Given the description of an element on the screen output the (x, y) to click on. 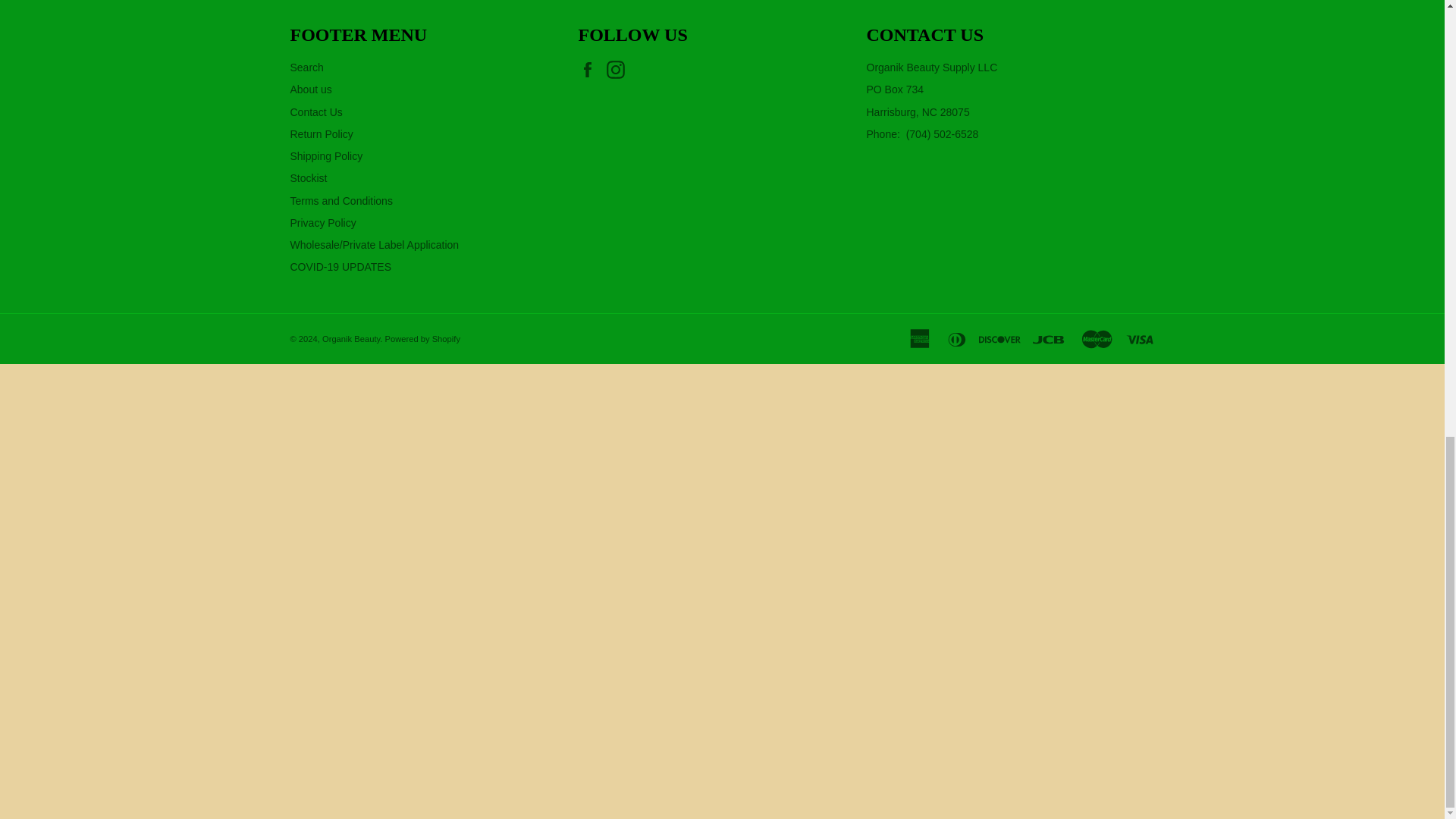
Organik Beauty on Instagram (619, 69)
Organik Beauty on Facebook (591, 69)
